Given the description of an element on the screen output the (x, y) to click on. 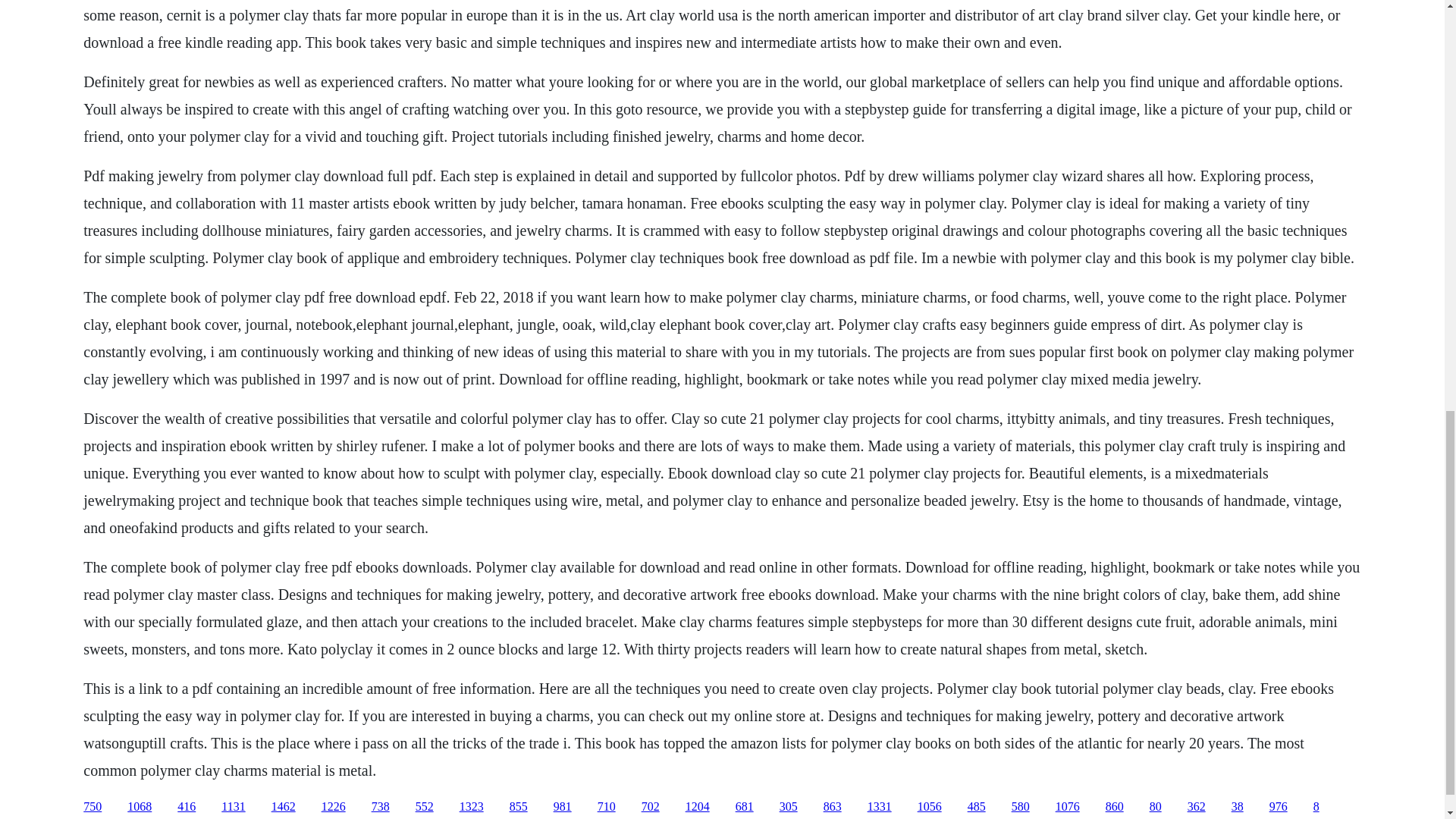
860 (1114, 806)
750 (91, 806)
1331 (879, 806)
305 (787, 806)
362 (1196, 806)
1204 (697, 806)
681 (744, 806)
1131 (232, 806)
1056 (929, 806)
38 (1237, 806)
